Given the description of an element on the screen output the (x, y) to click on. 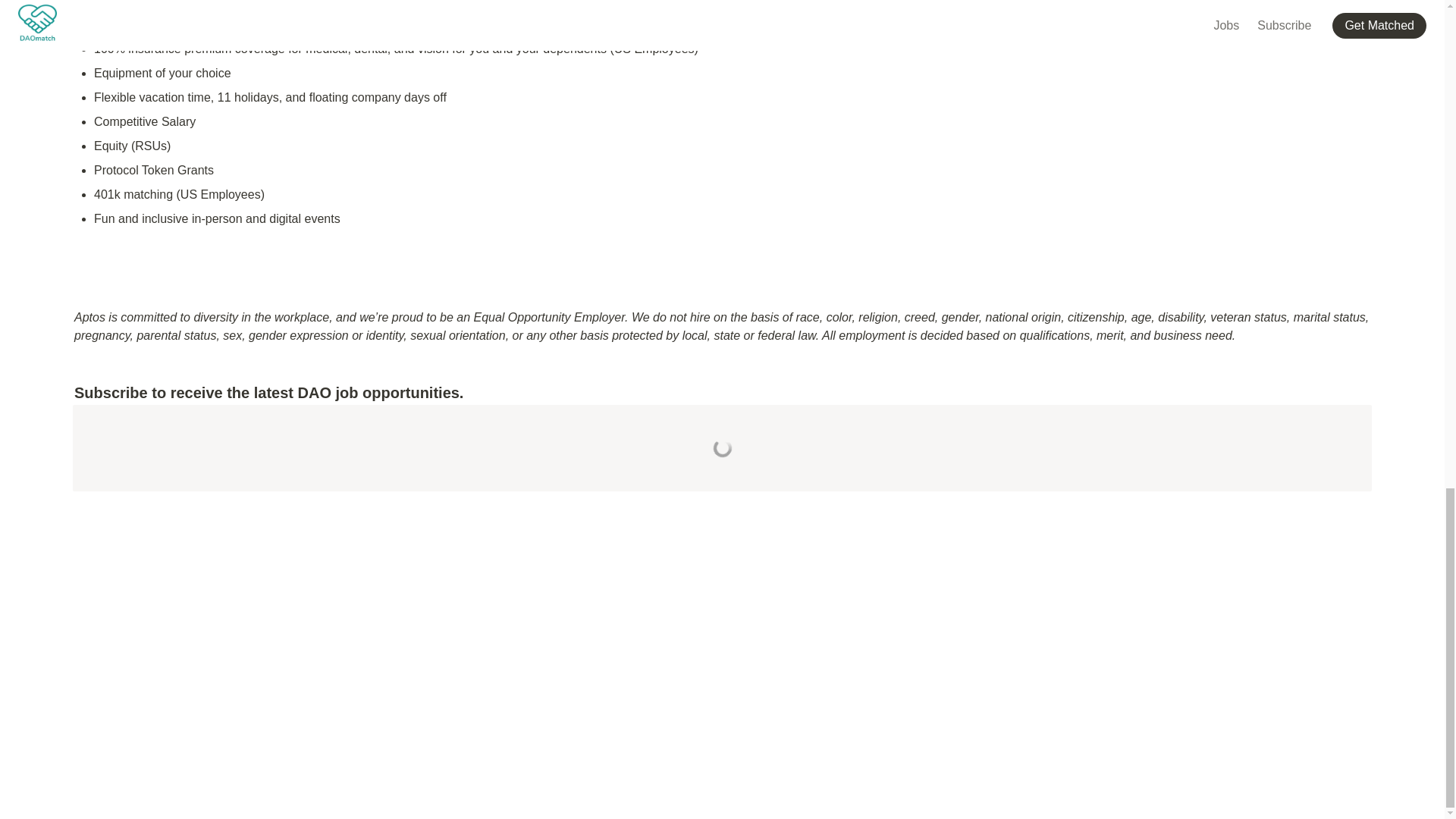
daomatch.substack.com (272, 447)
